Given the description of an element on the screen output the (x, y) to click on. 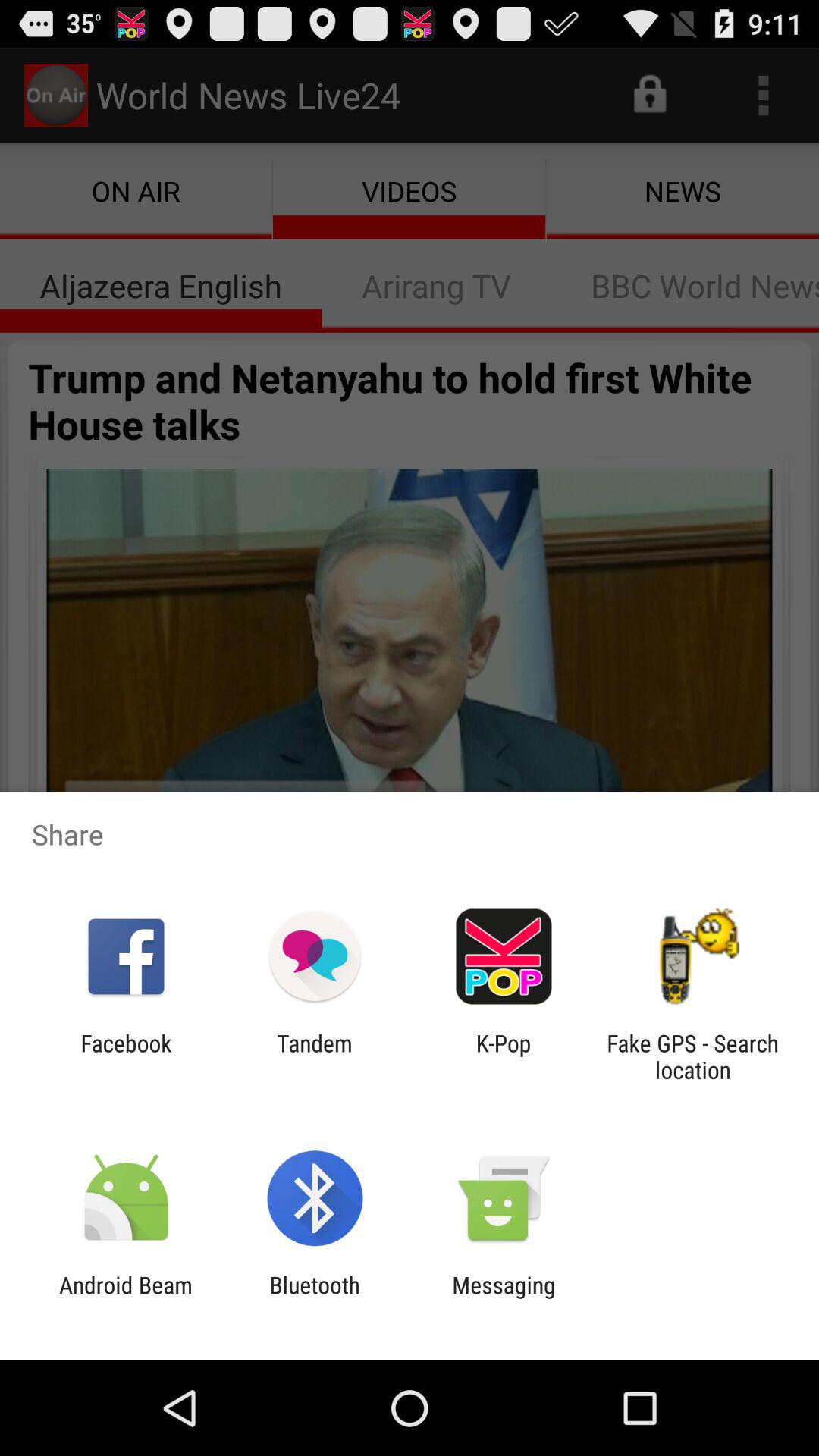
jump until the messaging app (503, 1298)
